Given the description of an element on the screen output the (x, y) to click on. 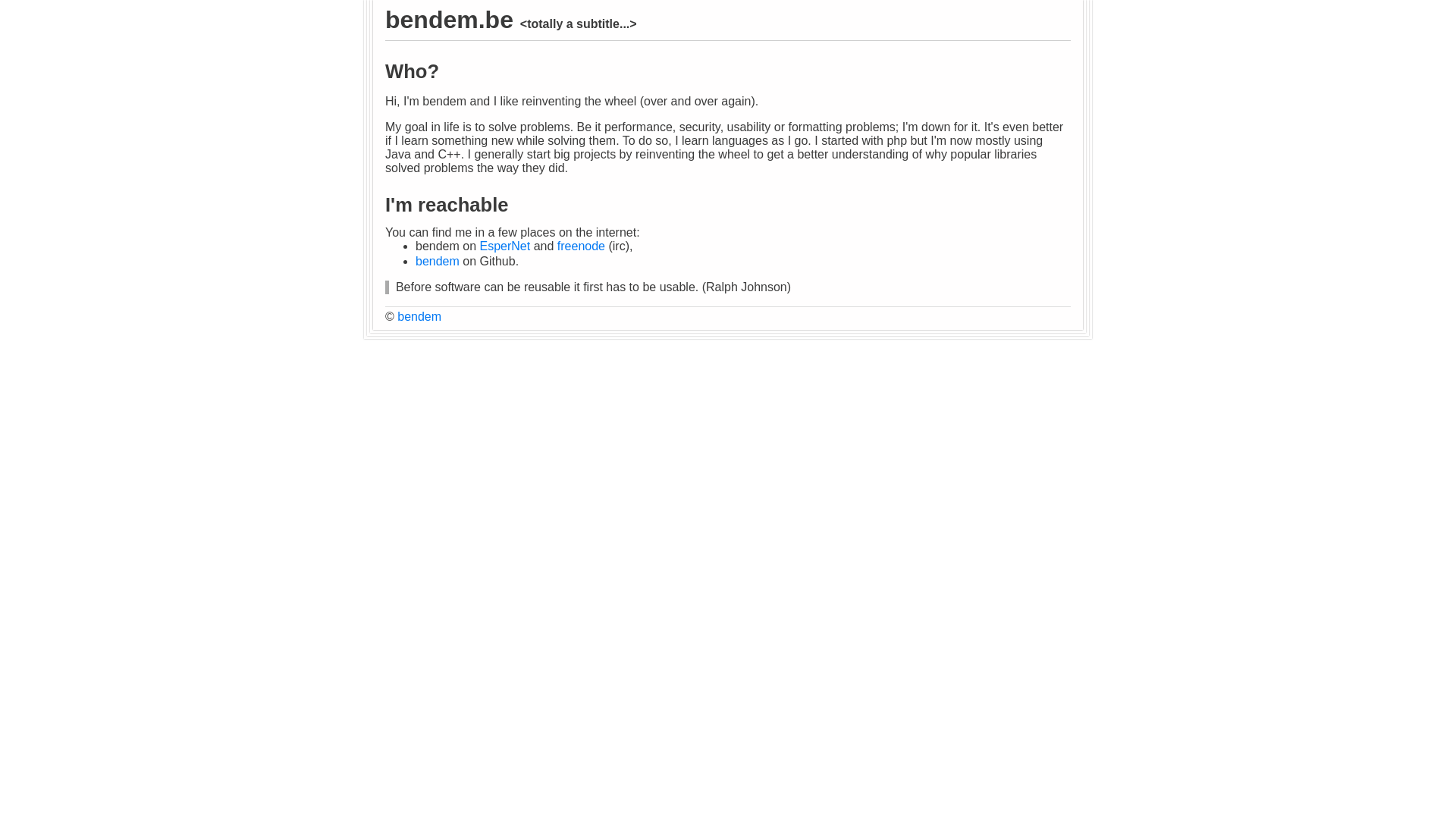
freenode Element type: text (581, 245)
EsperNet Element type: text (505, 245)
bendem Element type: text (419, 316)
bendem.be <totally a subtitle...> Element type: text (511, 19)
bendem Element type: text (437, 260)
